Given the description of an element on the screen output the (x, y) to click on. 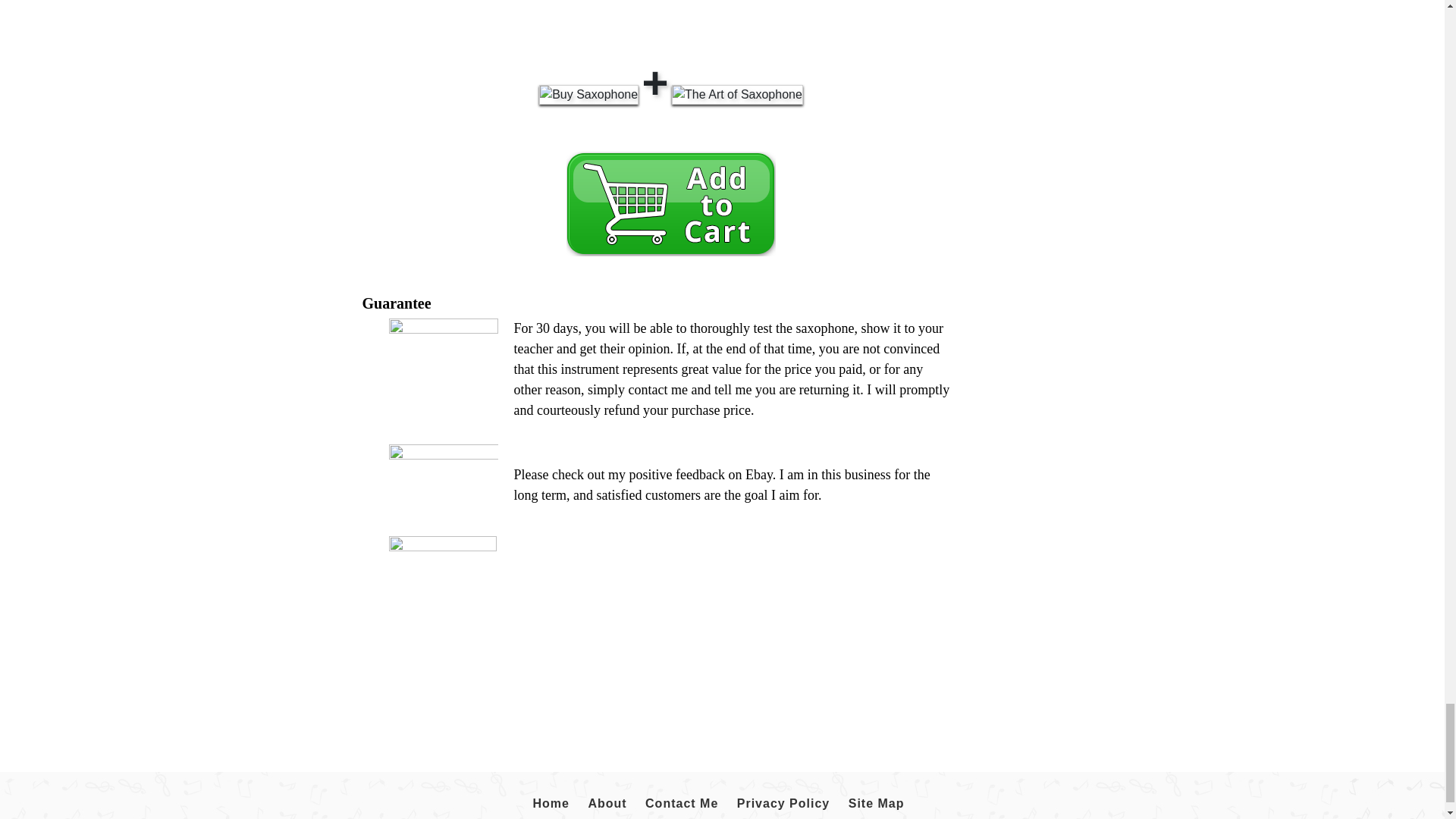
About (606, 803)
Site Map (876, 803)
Contact Me (682, 803)
Privacy Policy (783, 803)
Home (550, 803)
